Given the description of an element on the screen output the (x, y) to click on. 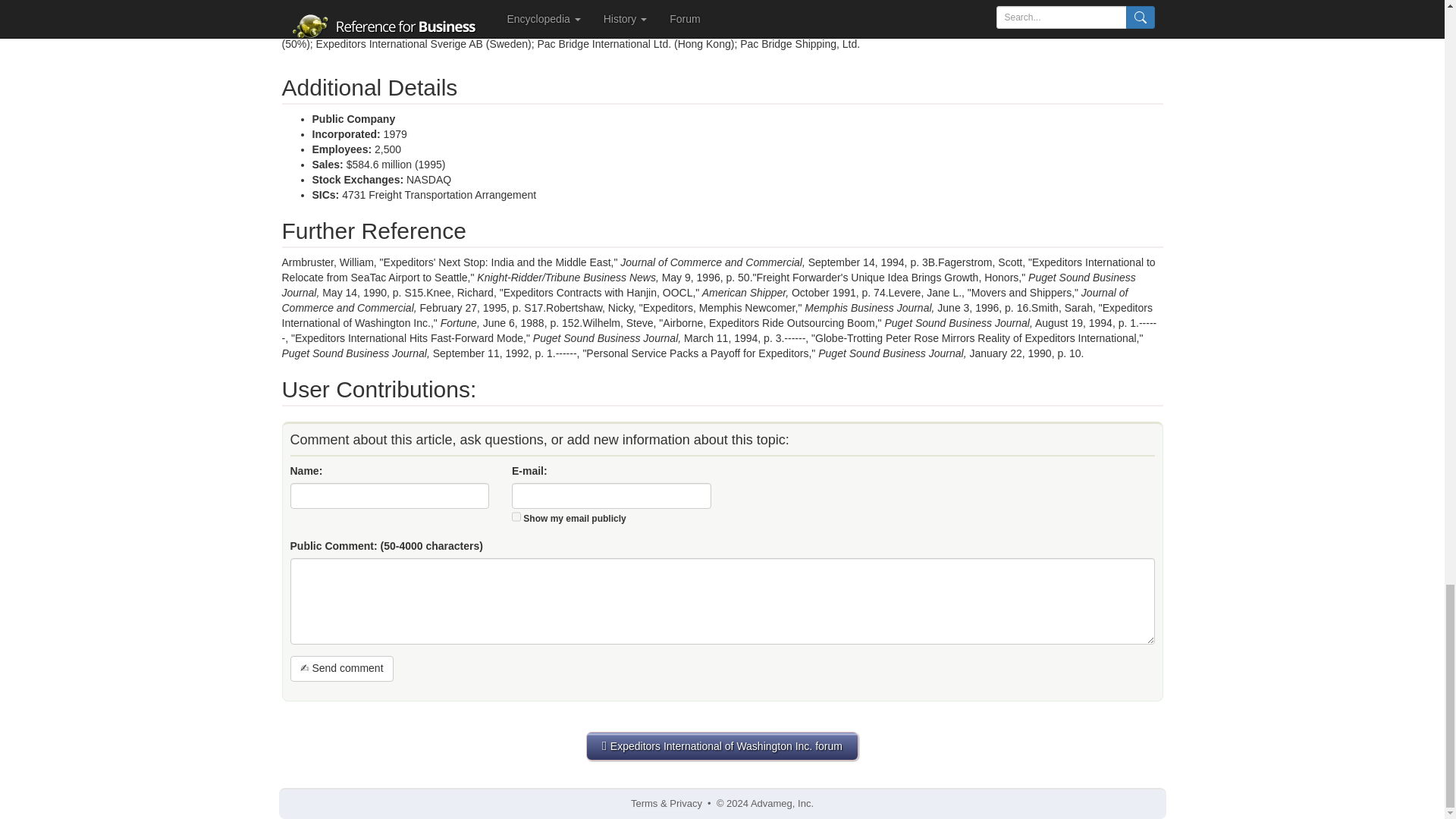
1 (516, 516)
Expeditors International of Washington Inc. forum (722, 746)
